Given the description of an element on the screen output the (x, y) to click on. 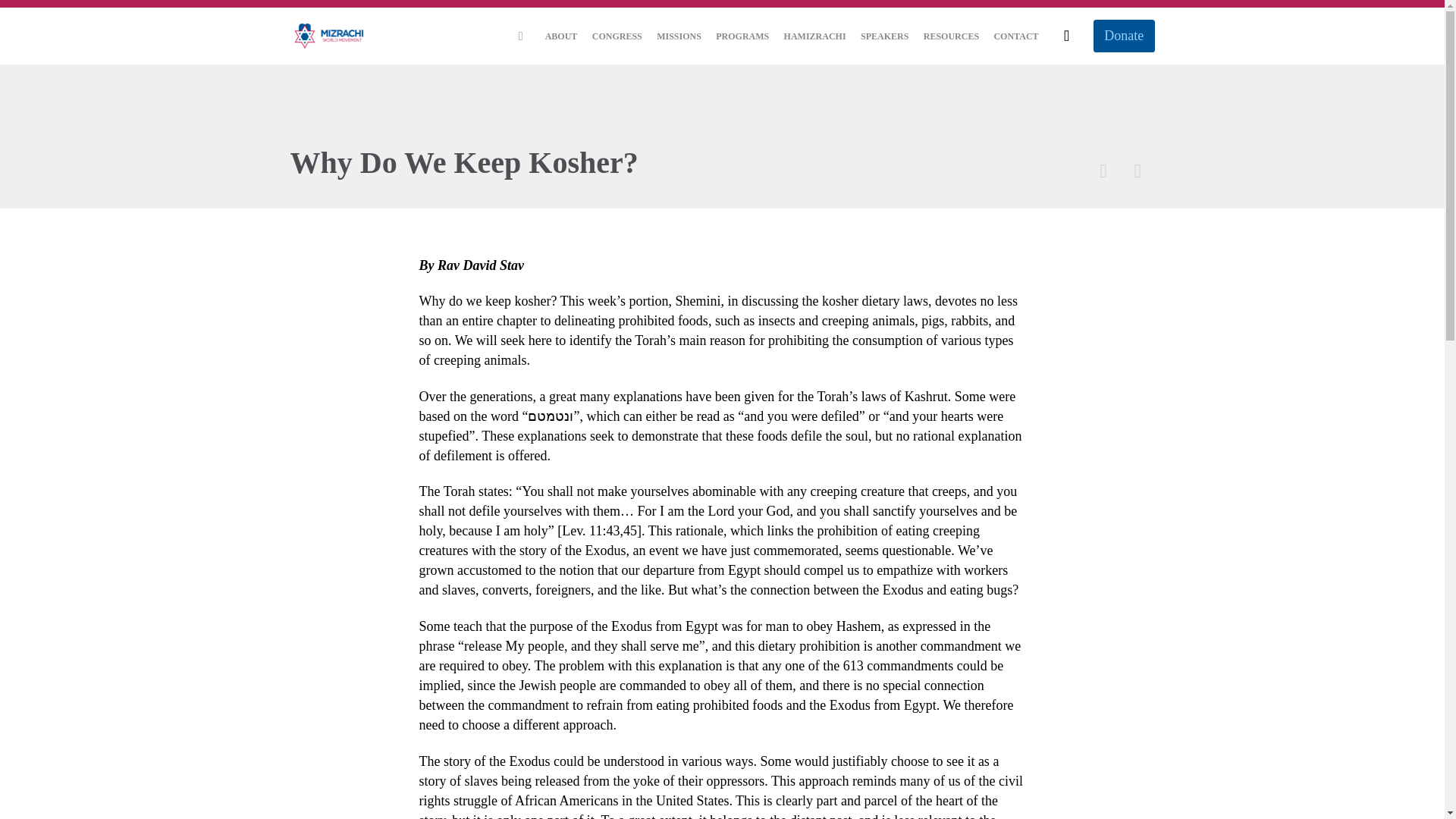
MISSIONS (678, 36)
CONGRESS (616, 36)
RESOURCES (951, 36)
ABOUT (561, 36)
HAMIZRACHI (813, 36)
World Mizrachi (328, 35)
SPEAKERS (885, 36)
PROGRAMS (742, 36)
